Given the description of an element on the screen output the (x, y) to click on. 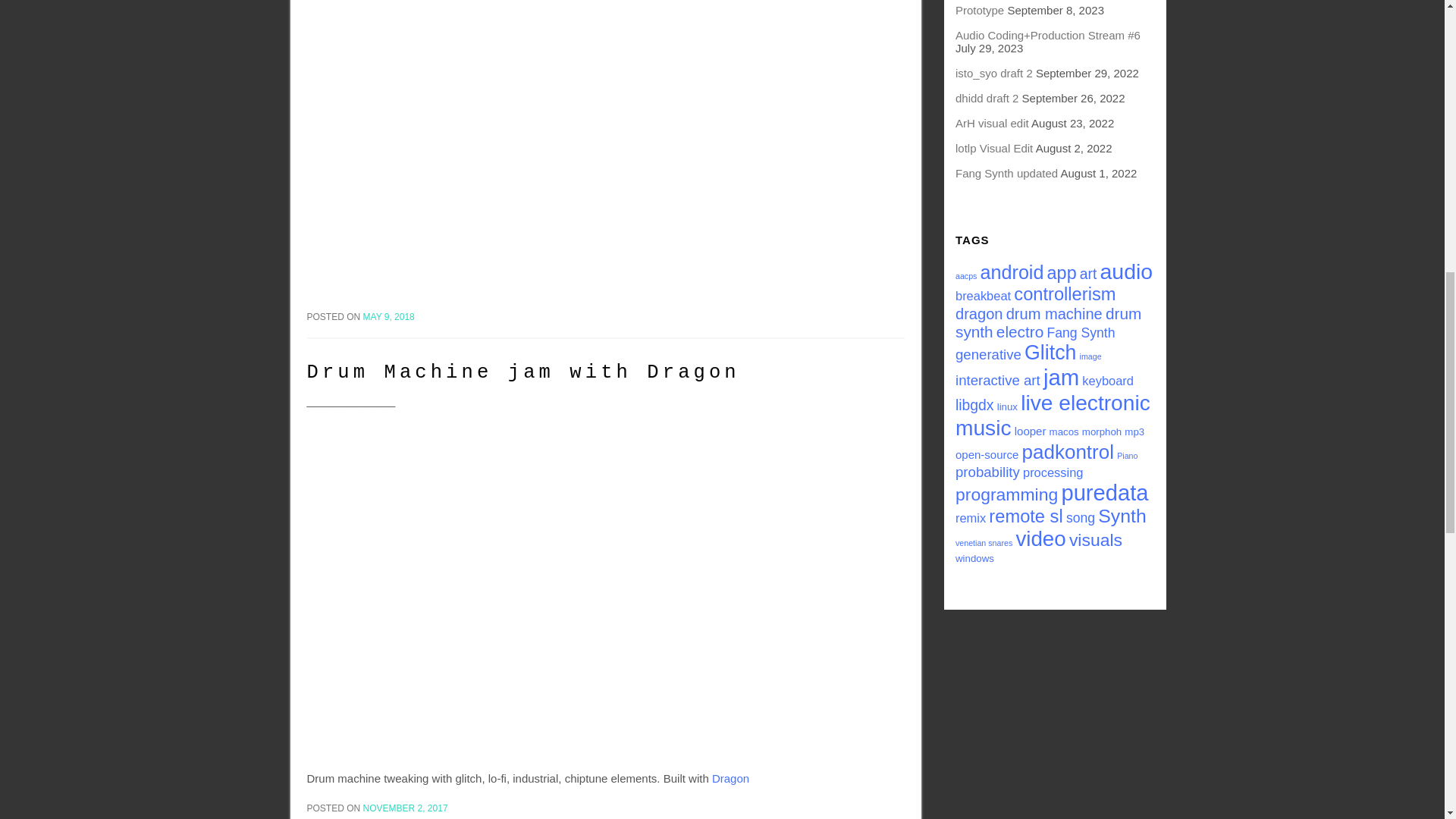
Drum Machine jam with Dragon (522, 372)
MAY 9, 2018 (388, 317)
NOVEMBER 2, 2017 (405, 808)
Dragon (730, 778)
